Given the description of an element on the screen output the (x, y) to click on. 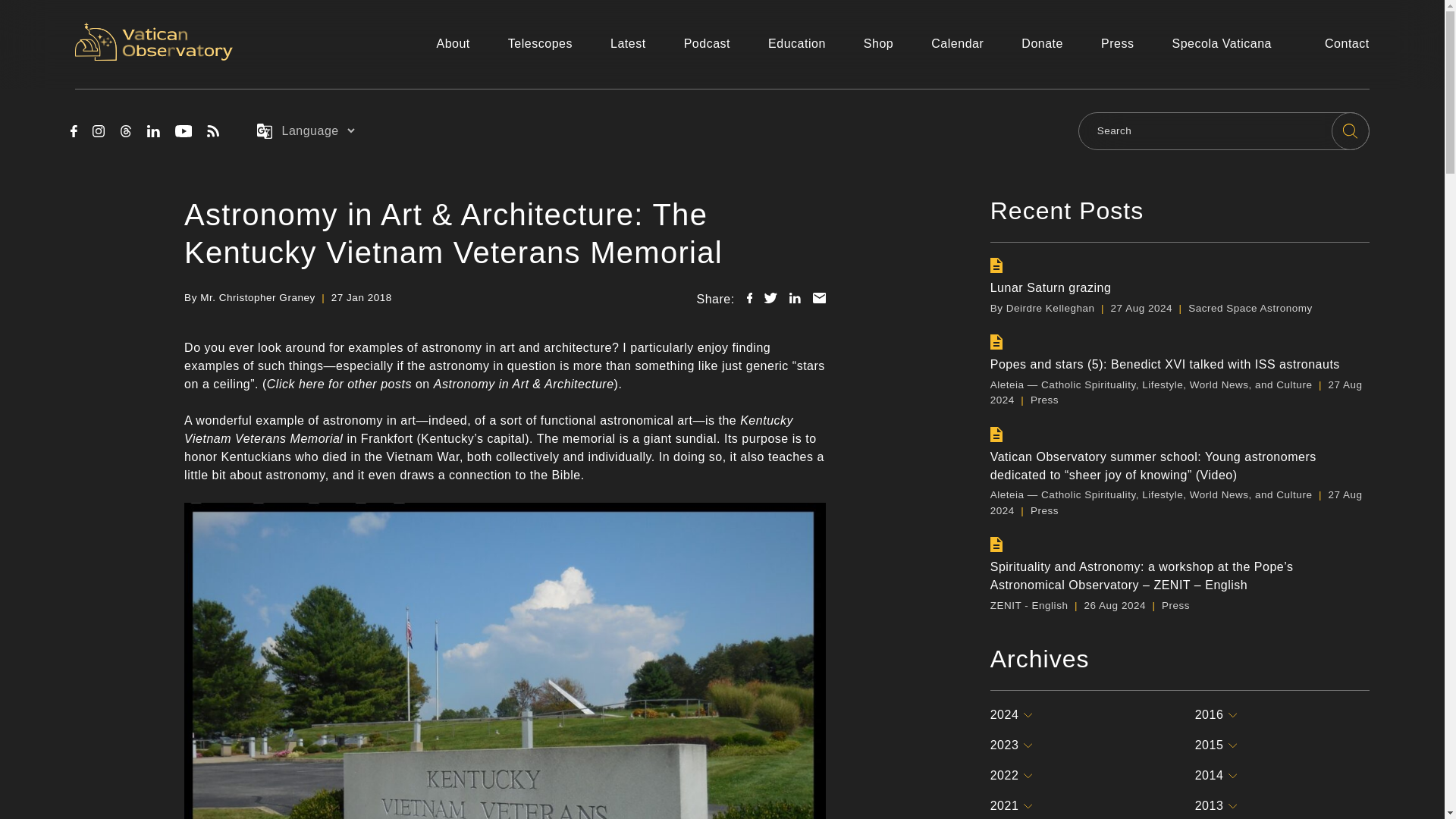
Donate (1042, 43)
Podcast (707, 43)
Latest (628, 43)
Education (796, 43)
Telescopes (540, 43)
About (451, 43)
Share on LinkedIn (794, 297)
Share via Email (818, 297)
Calendar (957, 43)
Shop (878, 43)
